Given the description of an element on the screen output the (x, y) to click on. 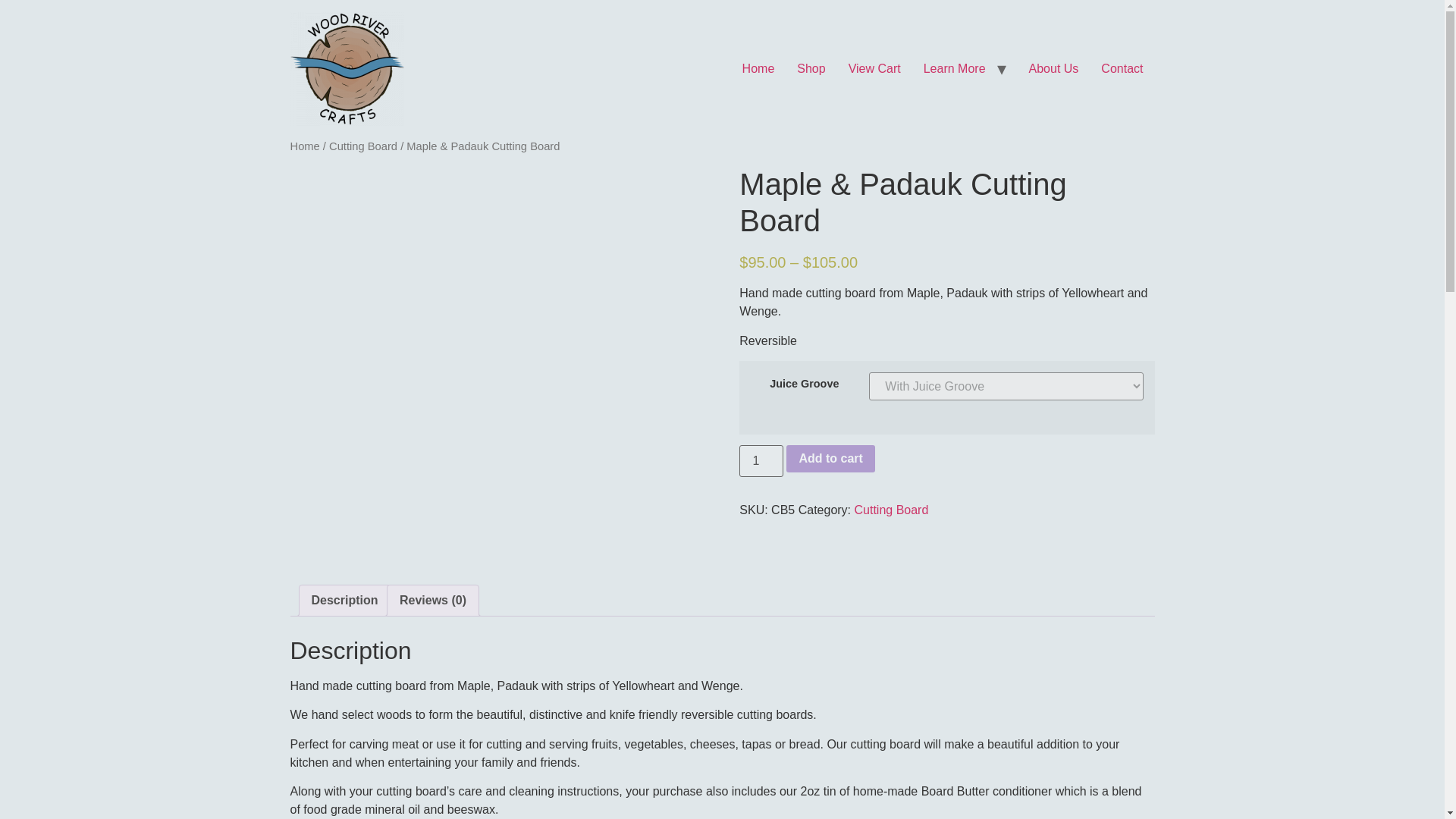
Description (344, 600)
Shop (810, 69)
1 (761, 460)
Add to cart (830, 458)
Home (303, 146)
Contact (1121, 69)
About Us (1053, 69)
Cutting Board (890, 509)
View Cart (874, 69)
Cutting Board (363, 146)
